Given the description of an element on the screen output the (x, y) to click on. 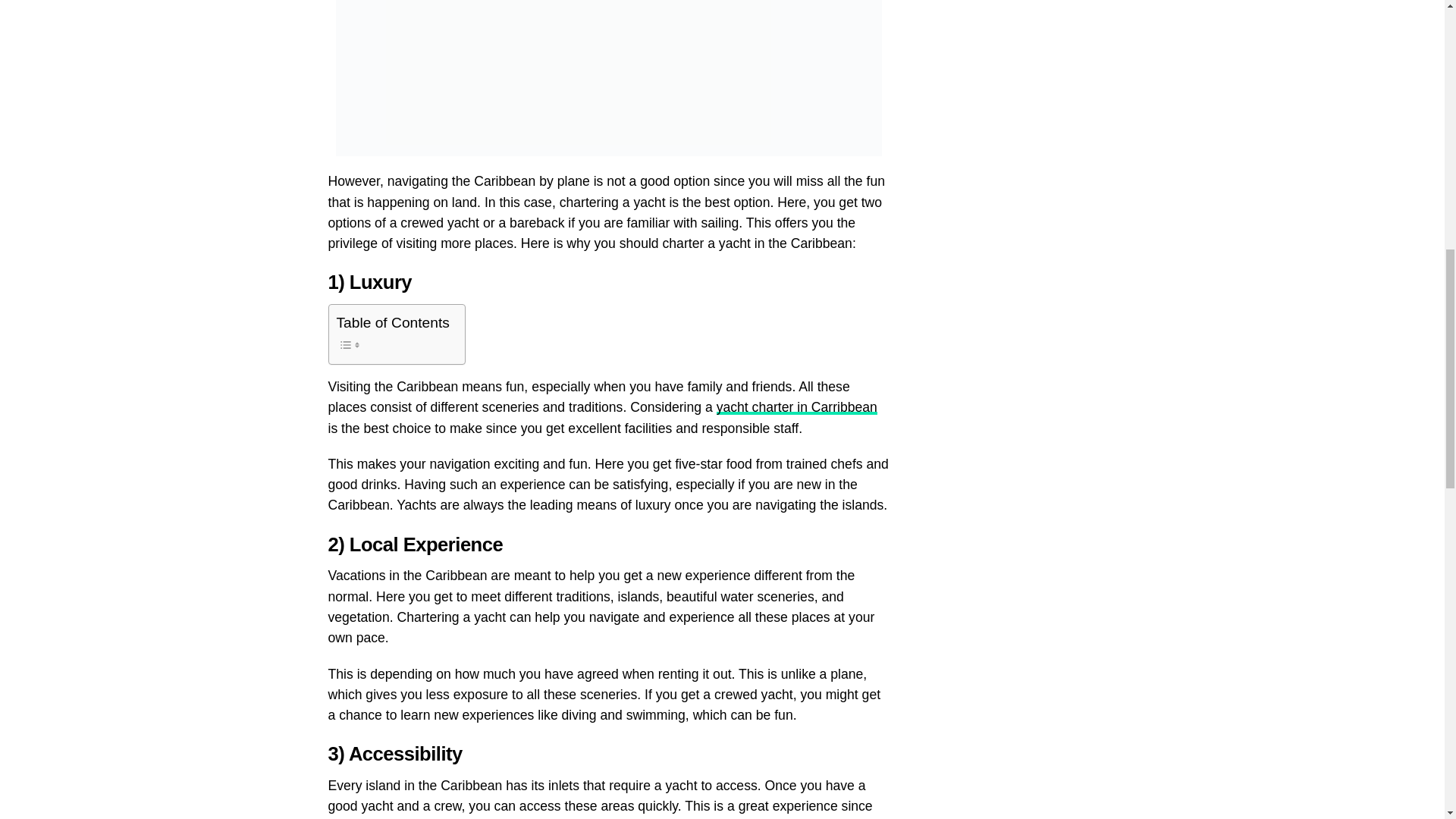
yacht charter in Carribbean (796, 406)
